Given the description of an element on the screen output the (x, y) to click on. 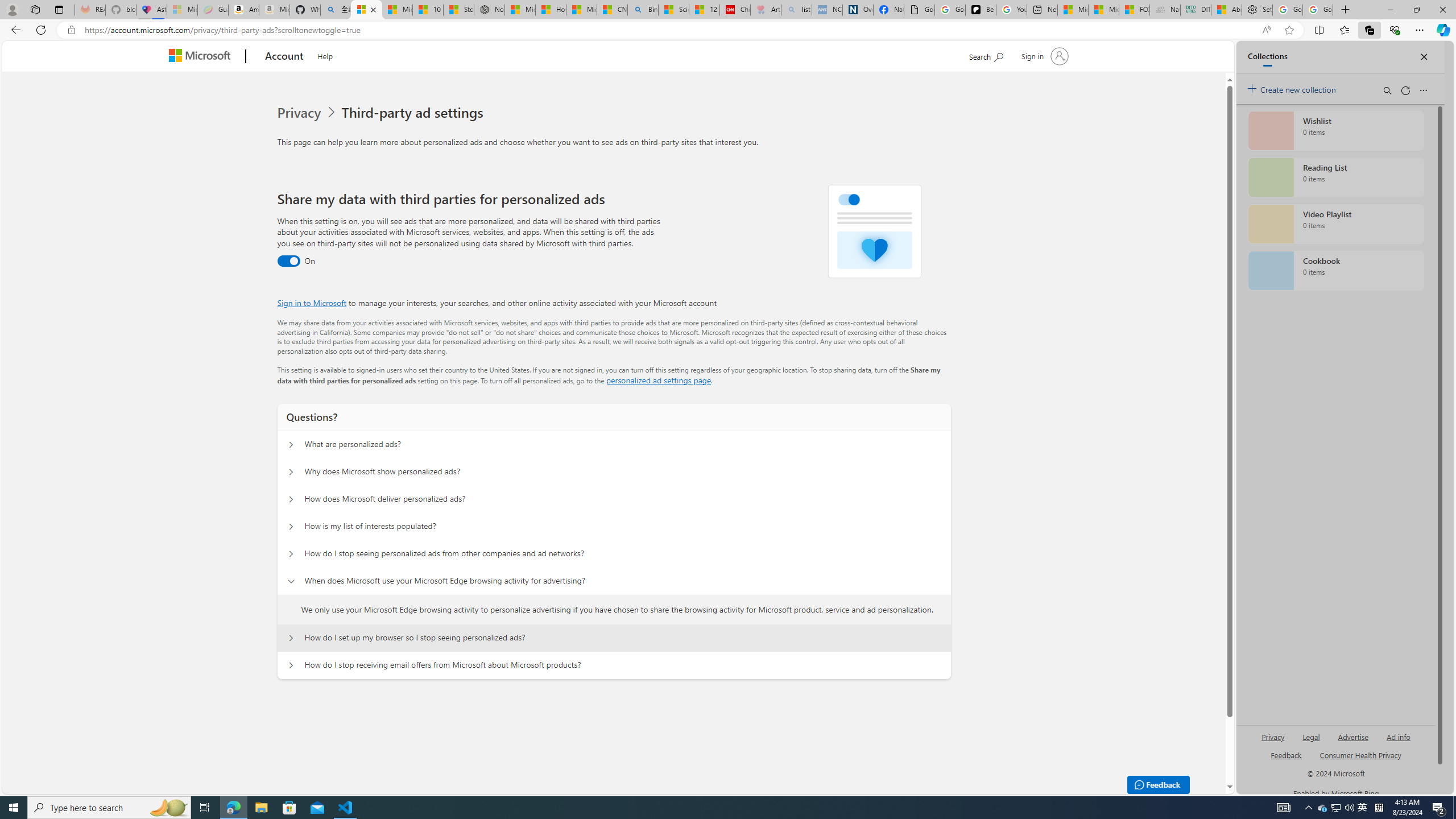
Third party data sharing toggle (287, 260)
NCL Adult Asthma Inhaler Choice Guideline - Sleeping (826, 9)
Science - MSN (673, 9)
App bar (728, 29)
